Given the description of an element on the screen output the (x, y) to click on. 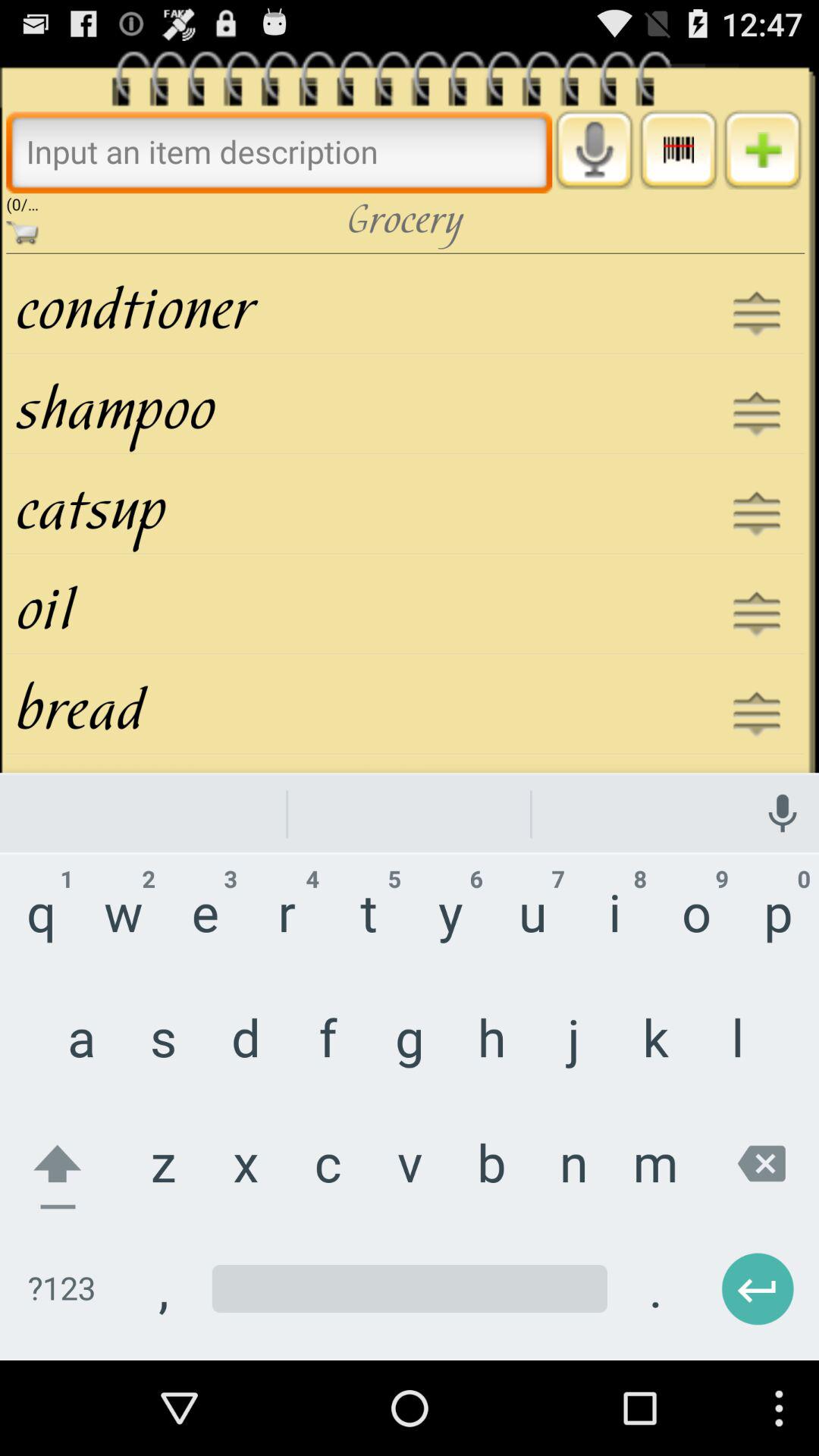
mic button (594, 149)
